Given the description of an element on the screen output the (x, y) to click on. 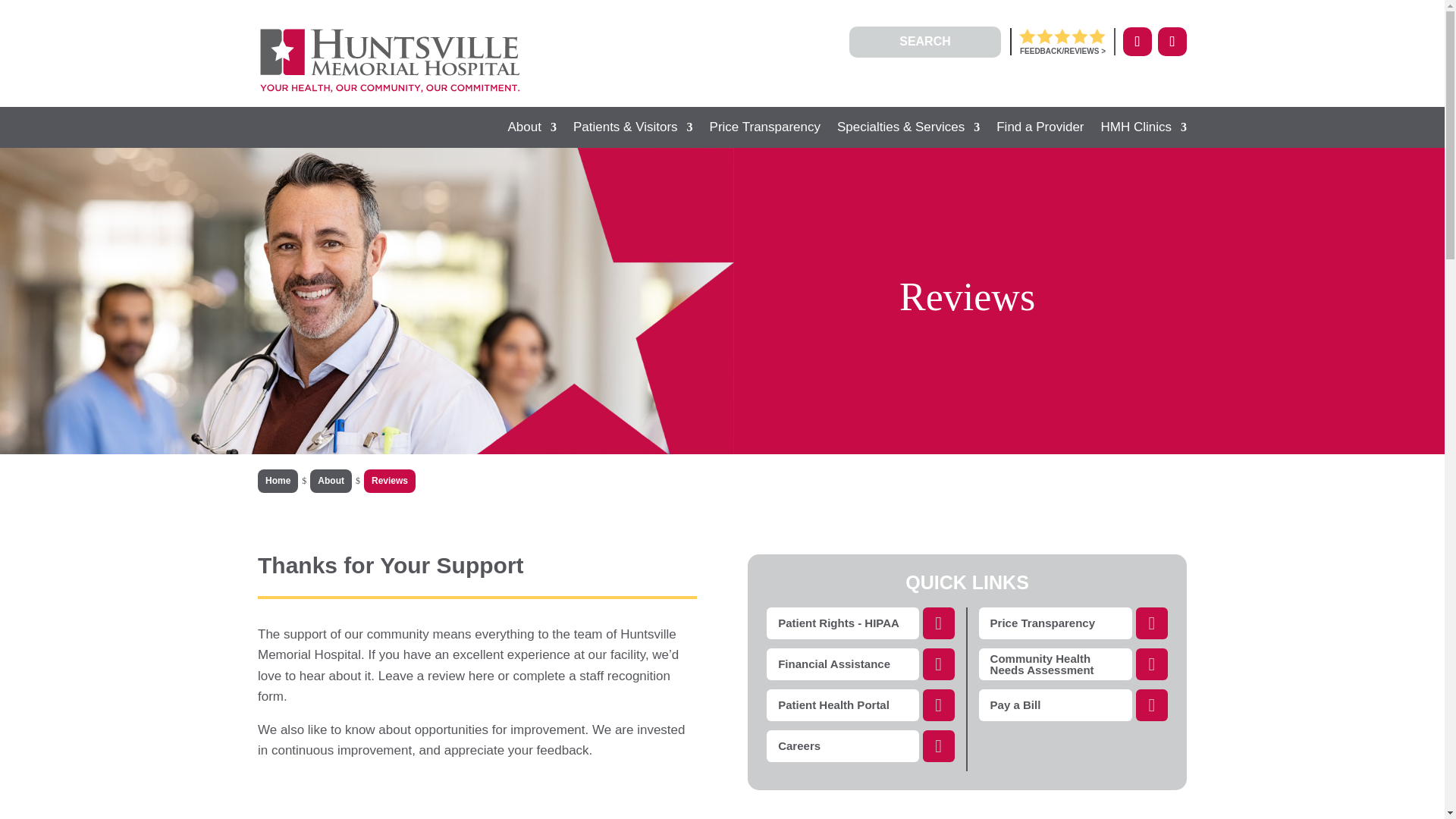
HMH Color Logo (389, 60)
Search (28, 15)
Price Transparency (765, 130)
Follow on LinkedIn (1171, 41)
Follow on Facebook (1136, 41)
About (532, 130)
